Given the description of an element on the screen output the (x, y) to click on. 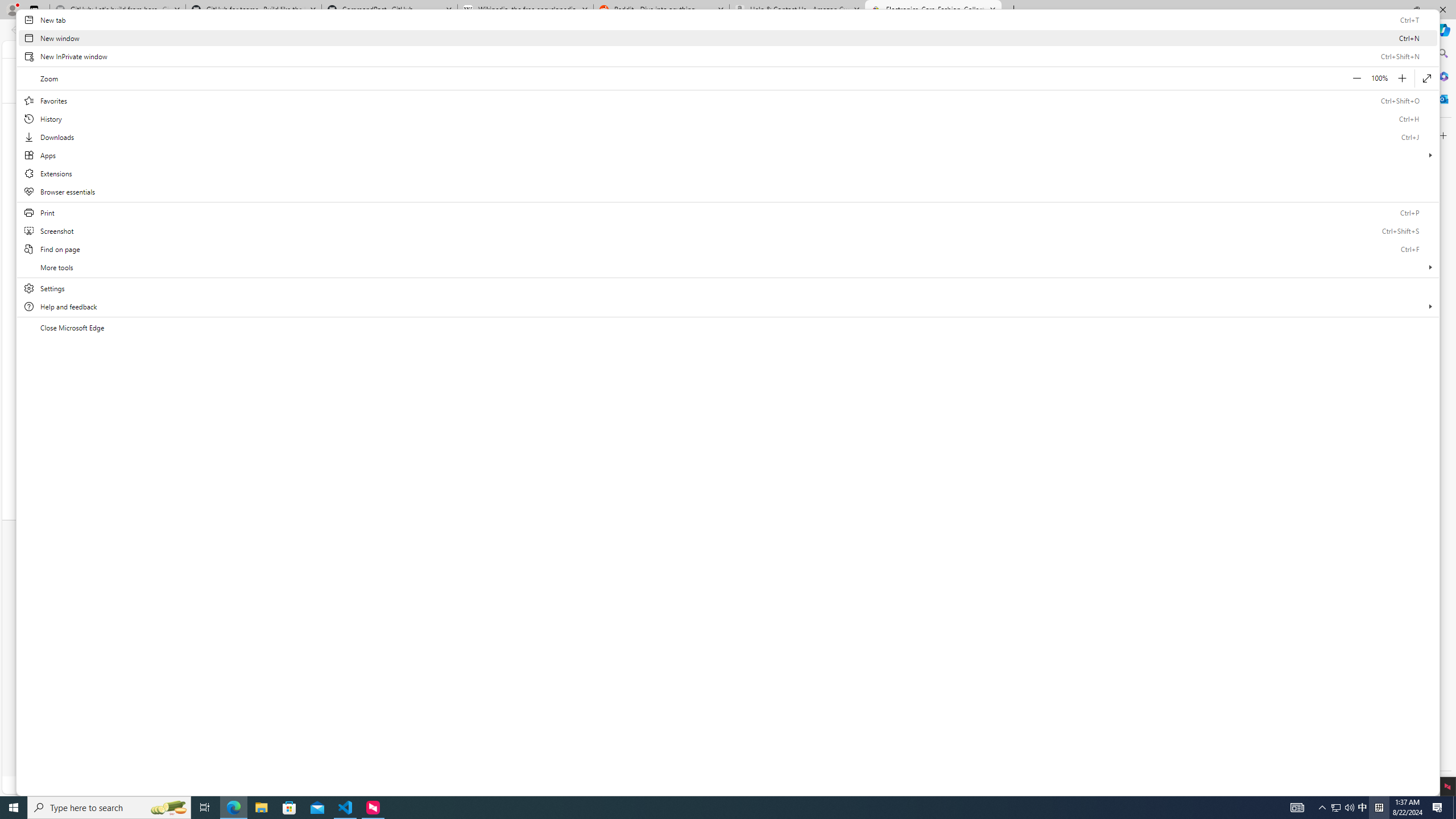
Fashion (579, 112)
Help, opens dialogs (1405, 768)
Seller Information Center (1015, 573)
WatchlistExpand Watch List (933, 49)
Home & GardenExpand: Home & Garden (904, 112)
Your shopping cart (1056, 49)
Health & Beauty (752, 112)
CA Privacy Notice (812, 749)
register (417, 48)
Seller Information Center (1003, 573)
Industrial equipmentExpand: Industrial equipment (828, 112)
Start selling (557, 573)
Security center (529, 652)
Security center (557, 652)
Ship to (860, 48)
